Given the description of an element on the screen output the (x, y) to click on. 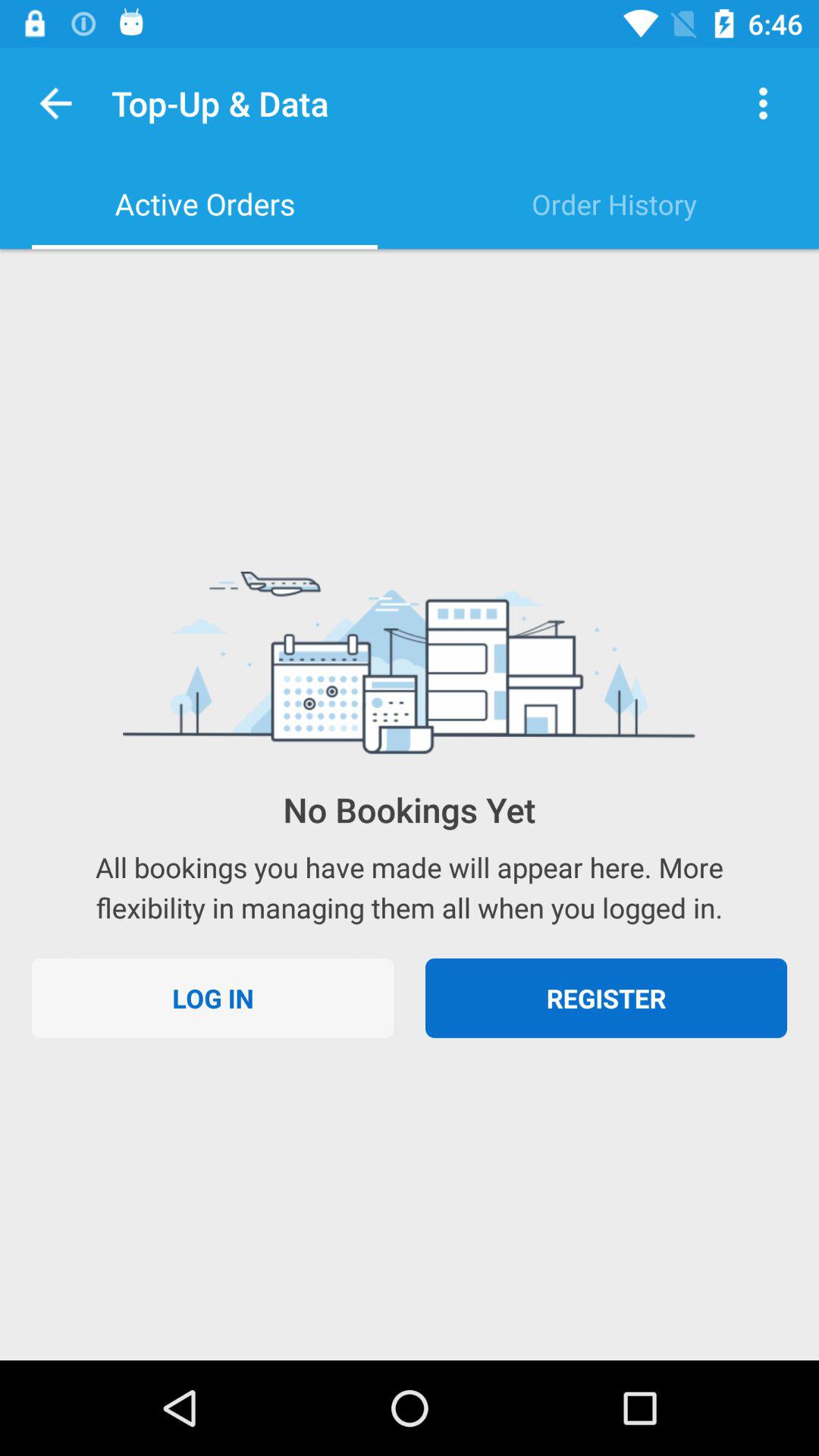
select more advanced settings (763, 103)
